Given the description of an element on the screen output the (x, y) to click on. 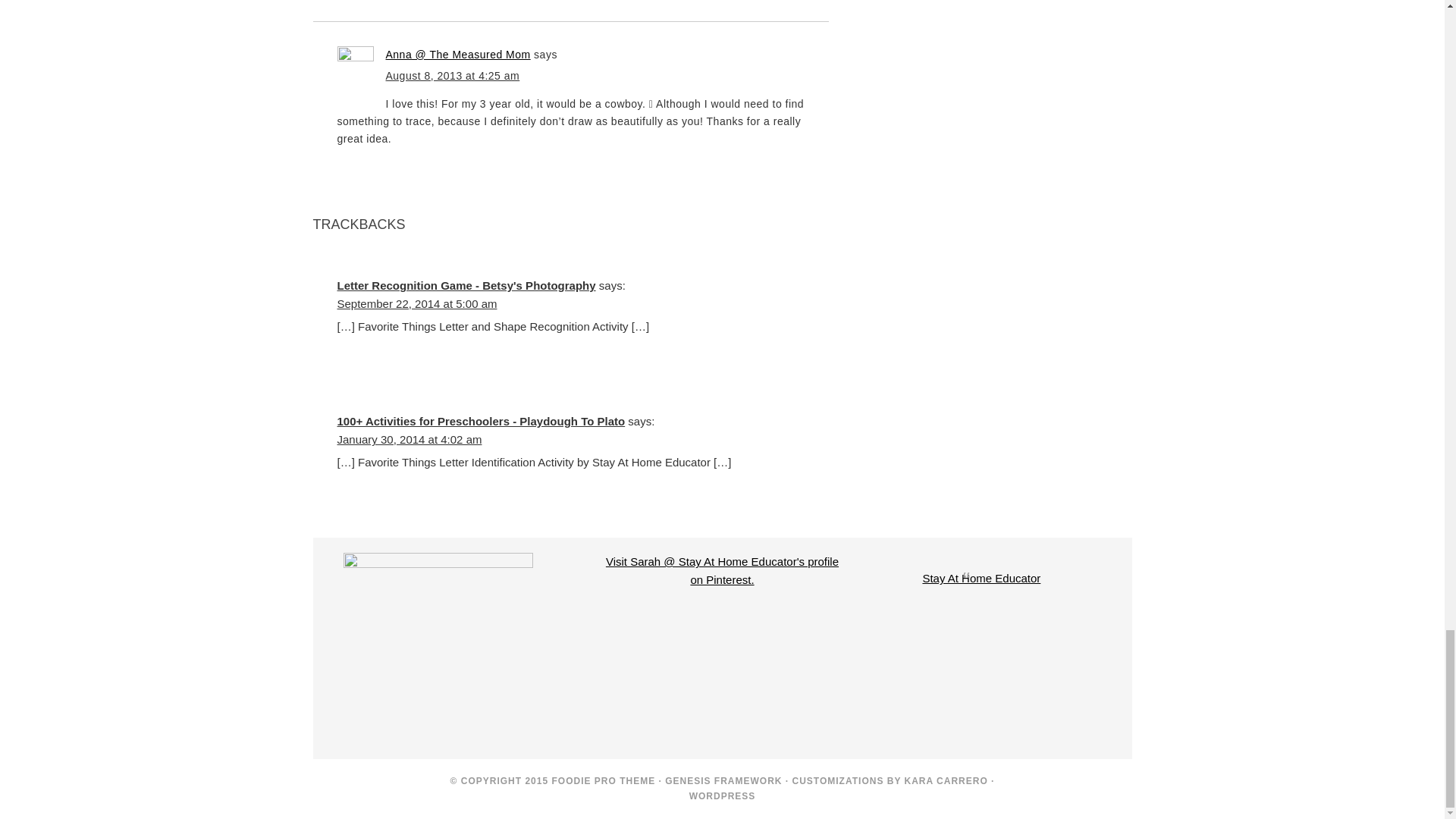
August 8, 2013 at 4:25 am (452, 75)
September 22, 2014 at 5:00 am (416, 303)
Letter Recognition Game - Betsy's Photography (465, 285)
